Given the description of an element on the screen output the (x, y) to click on. 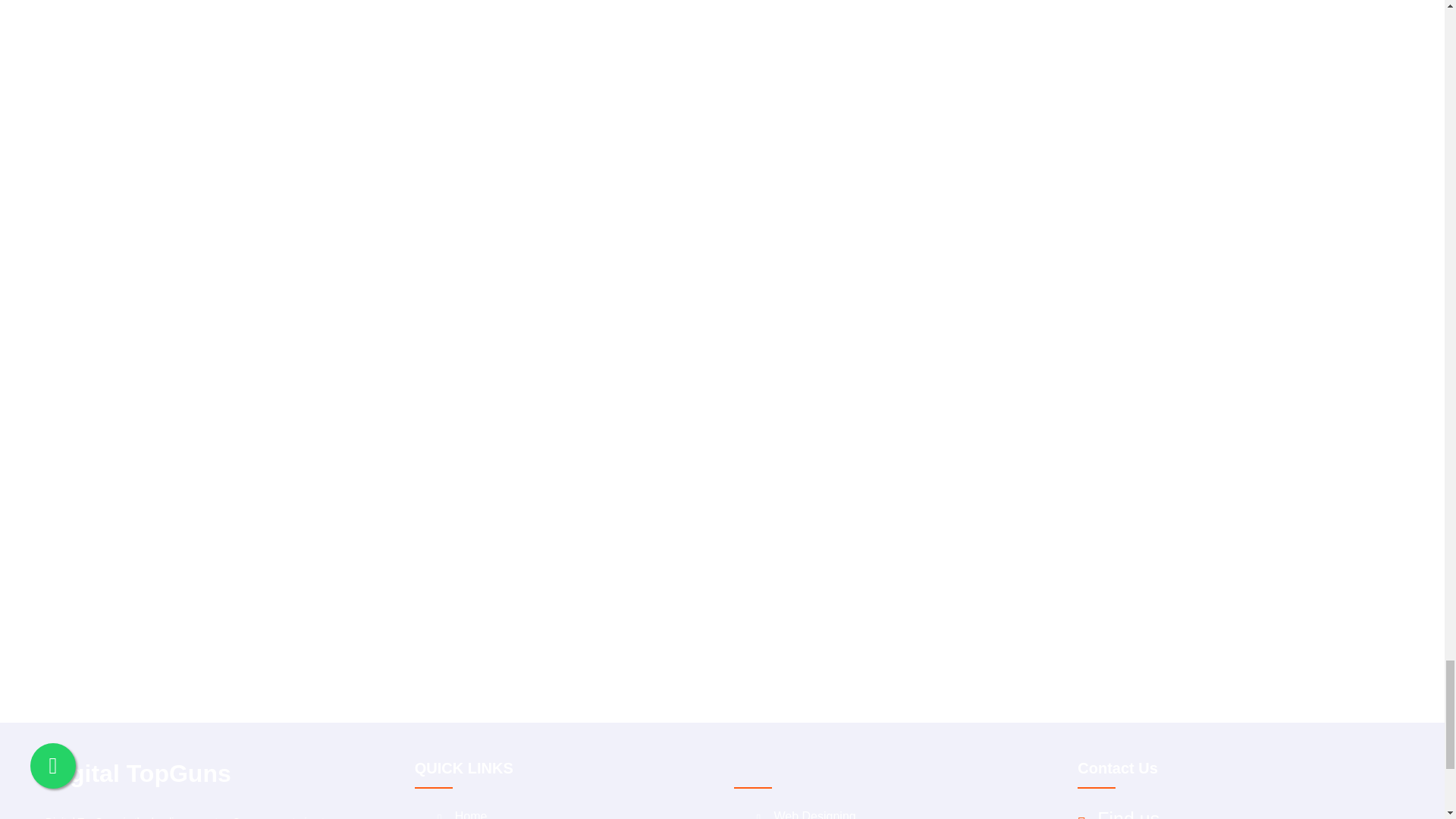
Digital TopGuns (205, 773)
